Given the description of an element on the screen output the (x, y) to click on. 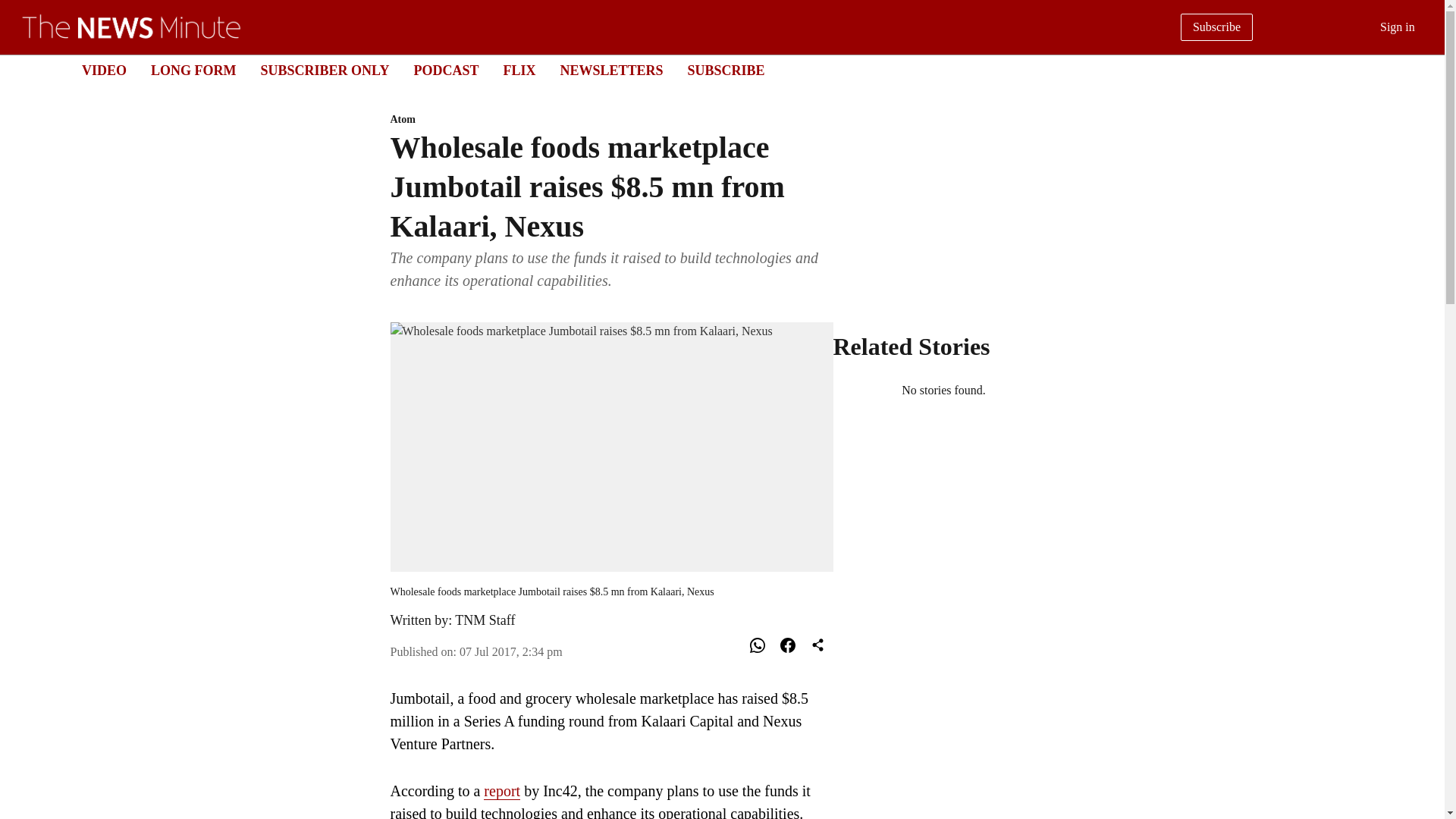
NEWSLETTERS (610, 70)
Dark Mode (1415, 70)
VIDEO (103, 70)
report (501, 791)
SUBSCRIBE (726, 70)
2017-07-07 06:34 (511, 651)
SUBSCRIBER ONLY (325, 70)
FLIX (518, 70)
PODCAST (446, 70)
LONG FORM (193, 70)
TNM Staff (484, 620)
Atom (611, 119)
